Given the description of an element on the screen output the (x, y) to click on. 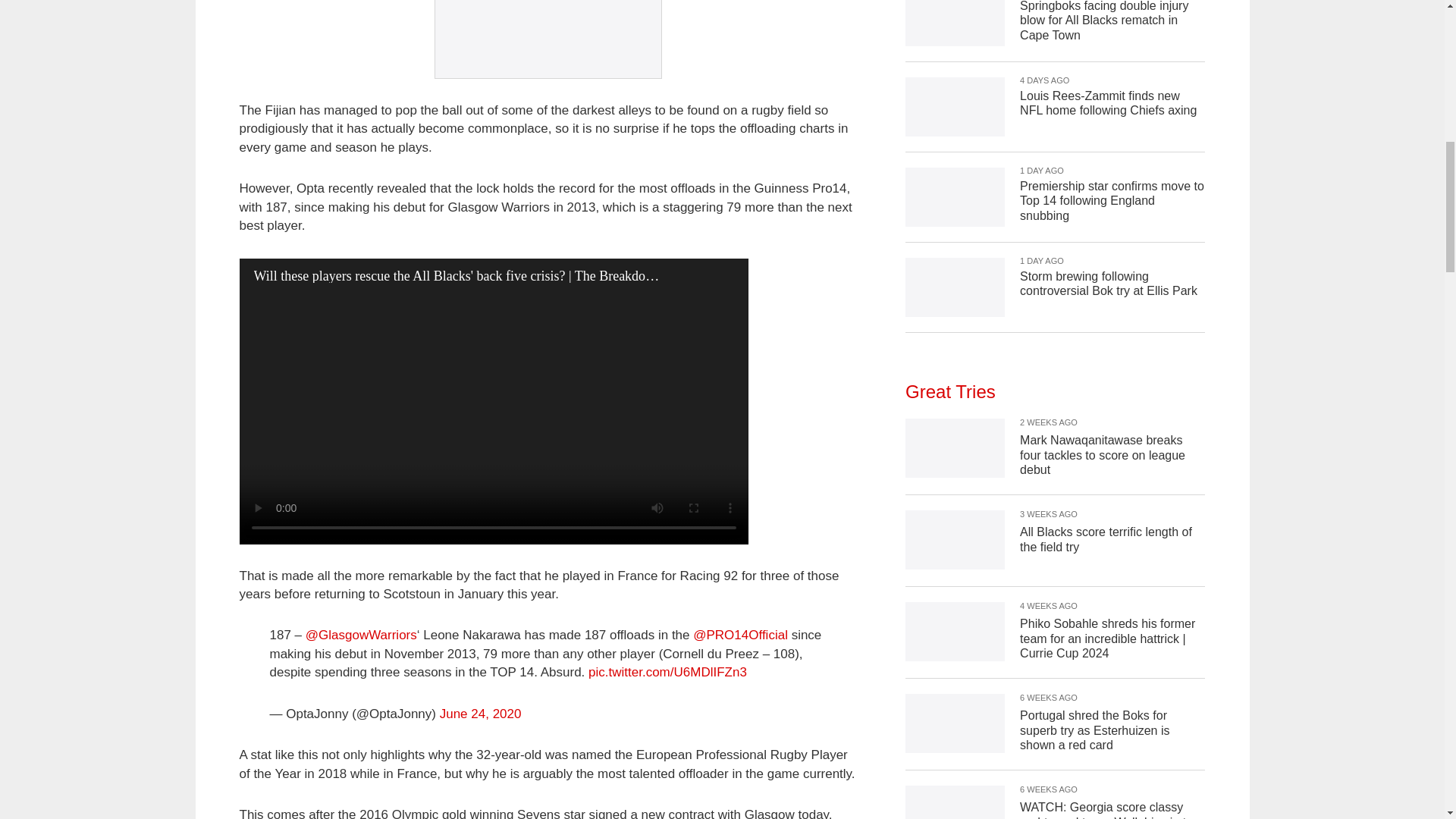
June 24, 2020 (480, 713)
